Given the description of an element on the screen output the (x, y) to click on. 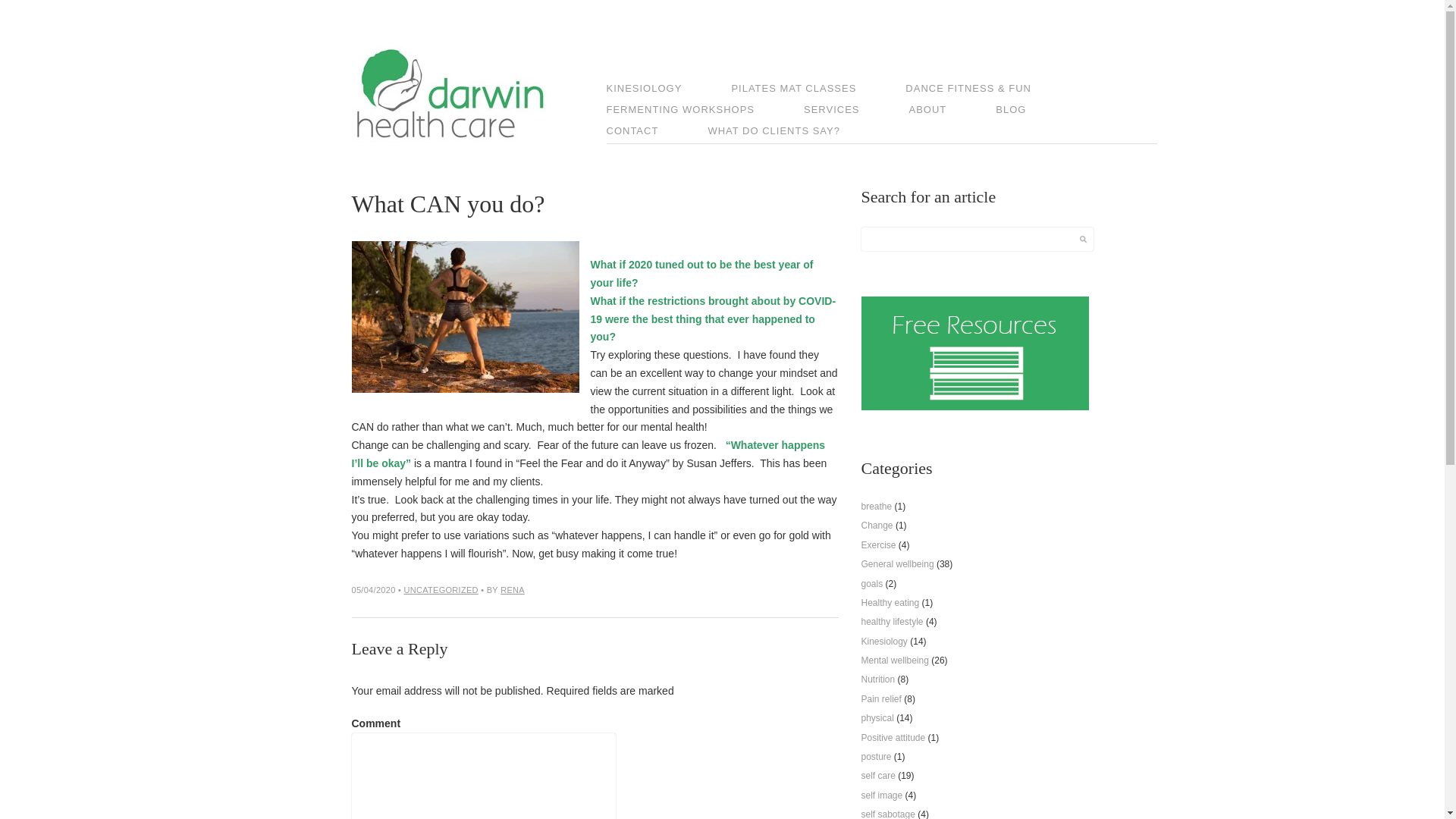
healthy lifestyle Element type: text (892, 621)
Exercise Element type: text (878, 544)
Healthy eating Element type: text (890, 602)
Search the site Element type: hover (1082, 239)
Change Element type: text (877, 525)
Kinesiology Element type: text (884, 641)
Positive attitude Element type: text (893, 737)
posture Element type: text (876, 756)
KINESIOLOGY Element type: text (667, 89)
Mental wellbeing Element type: text (894, 660)
WHAT DO CLIENTS SAY? Element type: text (796, 132)
goals Element type: text (872, 583)
PILATES MAT CLASSES Element type: text (816, 89)
self image Element type: text (882, 795)
General wellbeing Element type: text (897, 563)
self care Element type: text (878, 775)
physical Element type: text (877, 717)
GO Element type: text (1082, 239)
FERMENTING WORKSHOPS Element type: text (703, 111)
Pain relief Element type: text (881, 698)
breathe Element type: text (876, 506)
CONTACT Element type: text (655, 132)
ABOUT Element type: text (950, 111)
BLOG Element type: text (1033, 111)
DANCE FITNESS & FUN Element type: text (990, 89)
SERVICES Element type: text (854, 111)
Nutrition Element type: text (878, 679)
RENA Element type: text (512, 589)
UNCATEGORIZED Element type: text (440, 589)
